Given the description of an element on the screen output the (x, y) to click on. 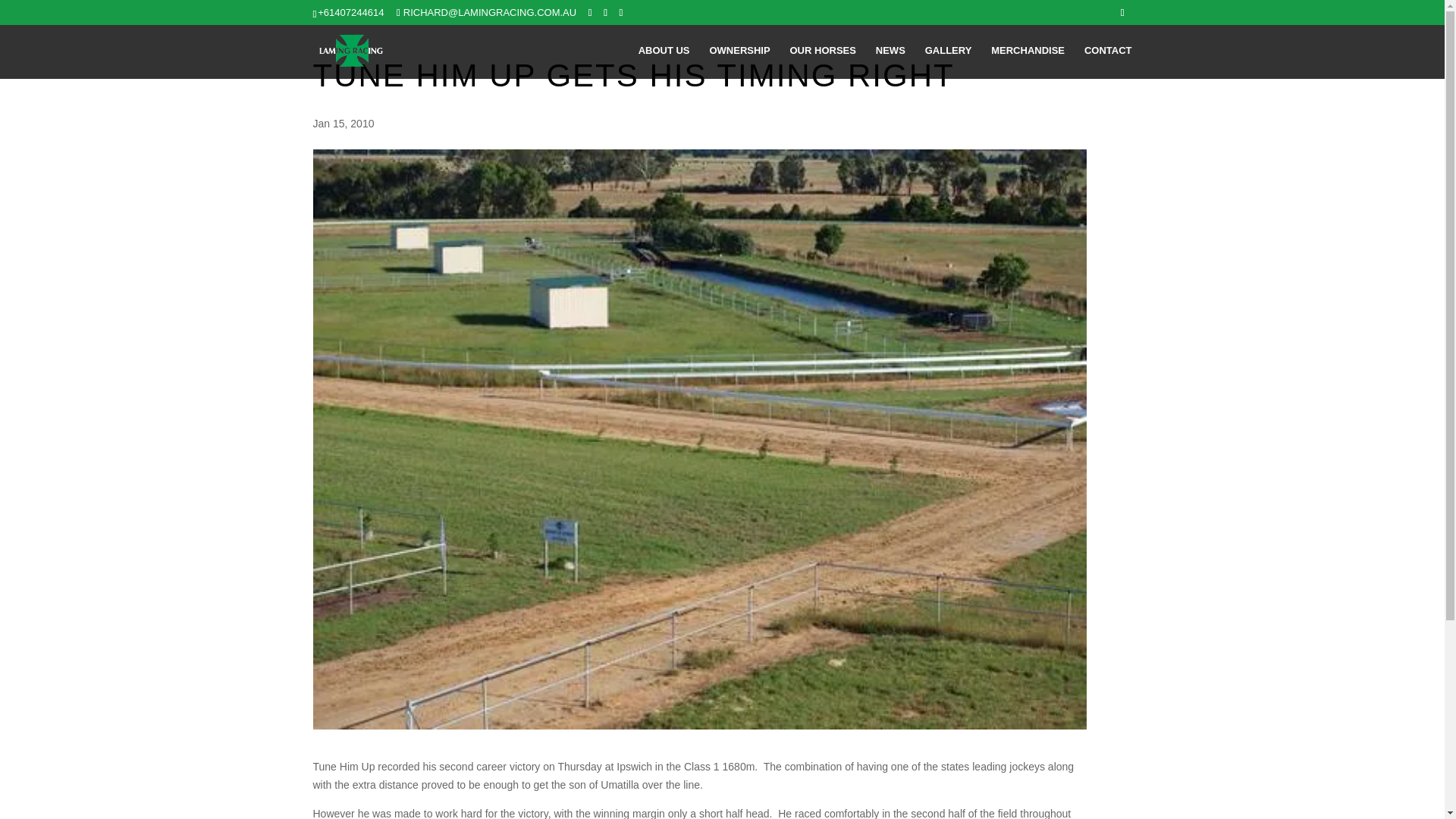
GALLERY (948, 61)
CONTACT (1108, 61)
OWNERSHIP (739, 61)
ABOUT US (664, 61)
MERCHANDISE (1027, 61)
OUR HORSES (823, 61)
